Given the description of an element on the screen output the (x, y) to click on. 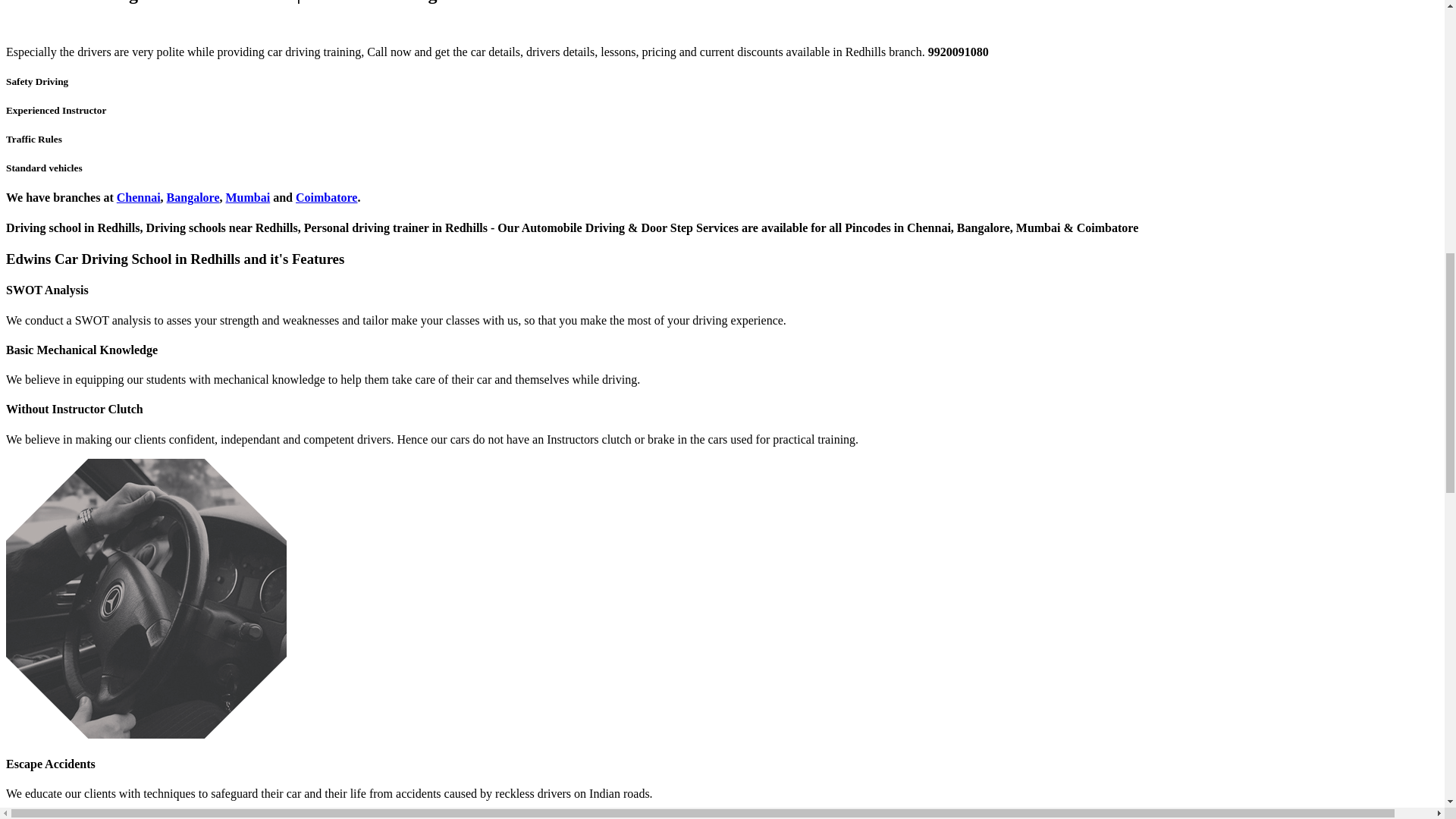
Mumbai (247, 196)
Bangalore (193, 196)
Chennai (138, 196)
Coimbatore (325, 196)
